Given the description of an element on the screen output the (x, y) to click on. 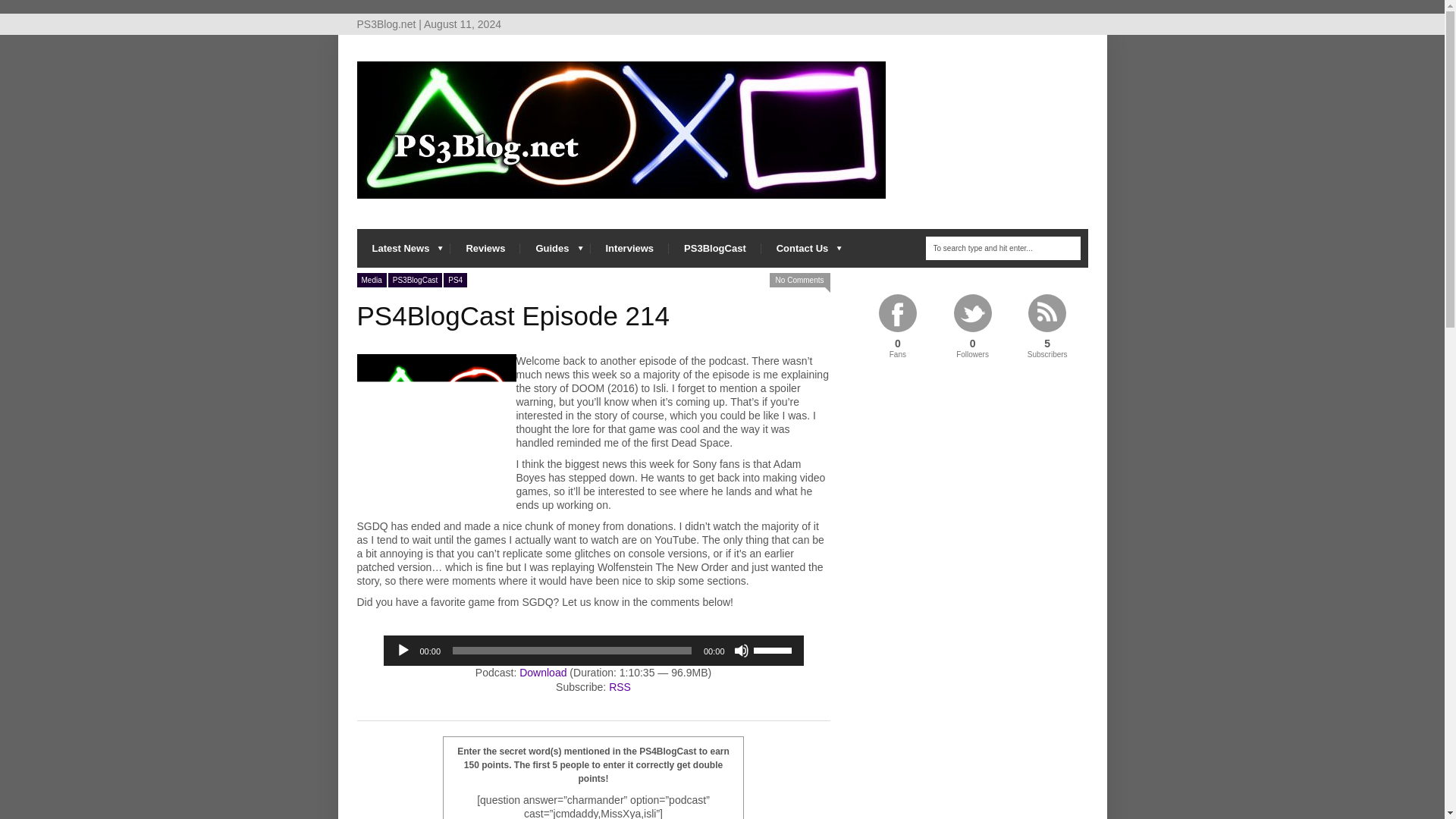
No Comments (799, 279)
Play (403, 650)
Mute (741, 650)
PS3BlogCast (714, 248)
To search type and hit enter... (1002, 248)
PS4 (455, 279)
PS3BlogCast (435, 433)
Media (370, 279)
Subscribe via RSS (619, 686)
Download (542, 672)
